Given the description of an element on the screen output the (x, y) to click on. 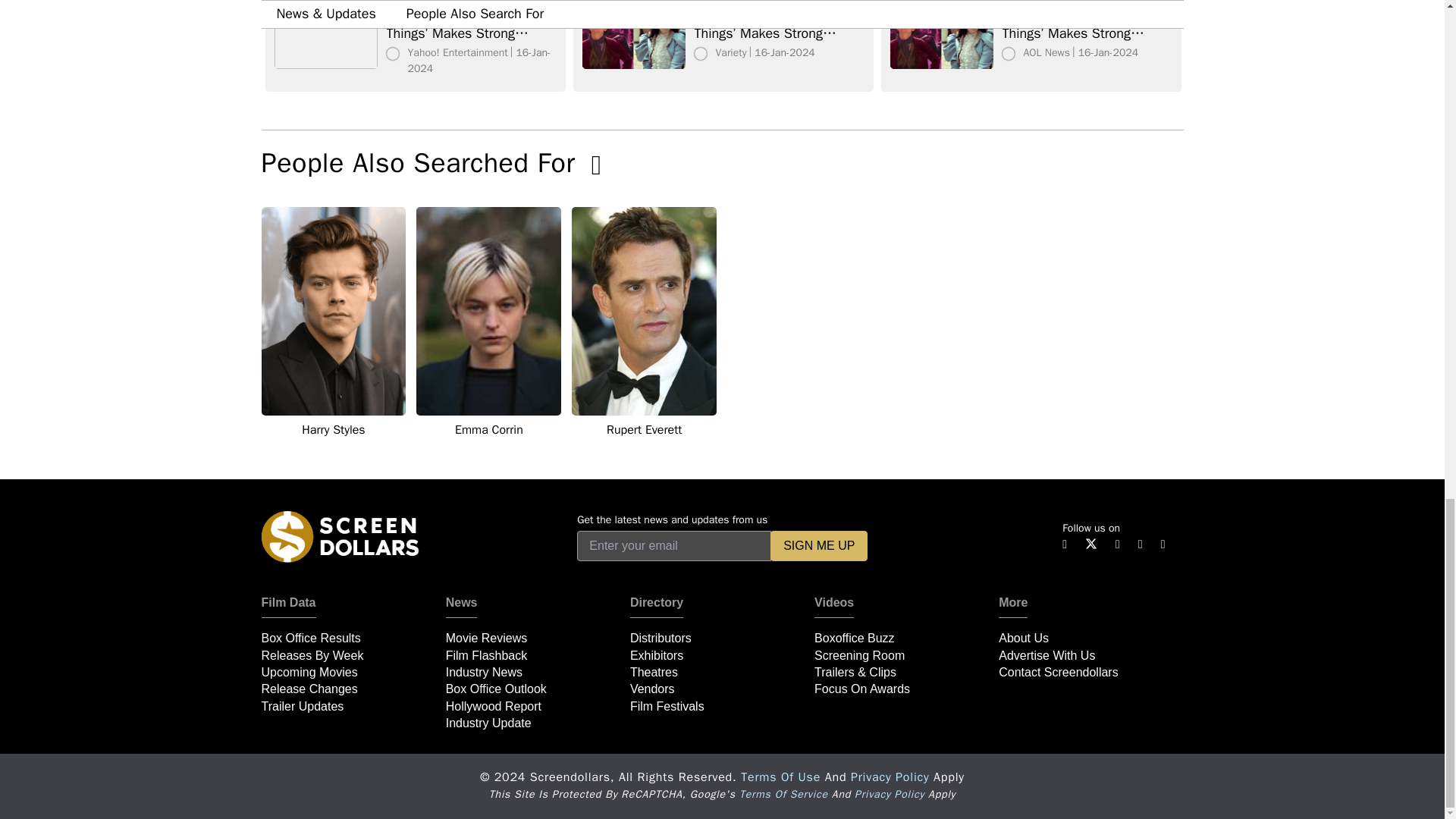
Twitter (1090, 542)
SIGN ME UP (818, 545)
News (461, 606)
Film Data (287, 606)
Sign up to receive the Screendollars Newsletter (818, 545)
Upcoming Movies (308, 671)
Release Changes (308, 688)
Box Office Results (309, 637)
Trailer Updates (301, 706)
Releases By Week (311, 655)
